Given the description of an element on the screen output the (x, y) to click on. 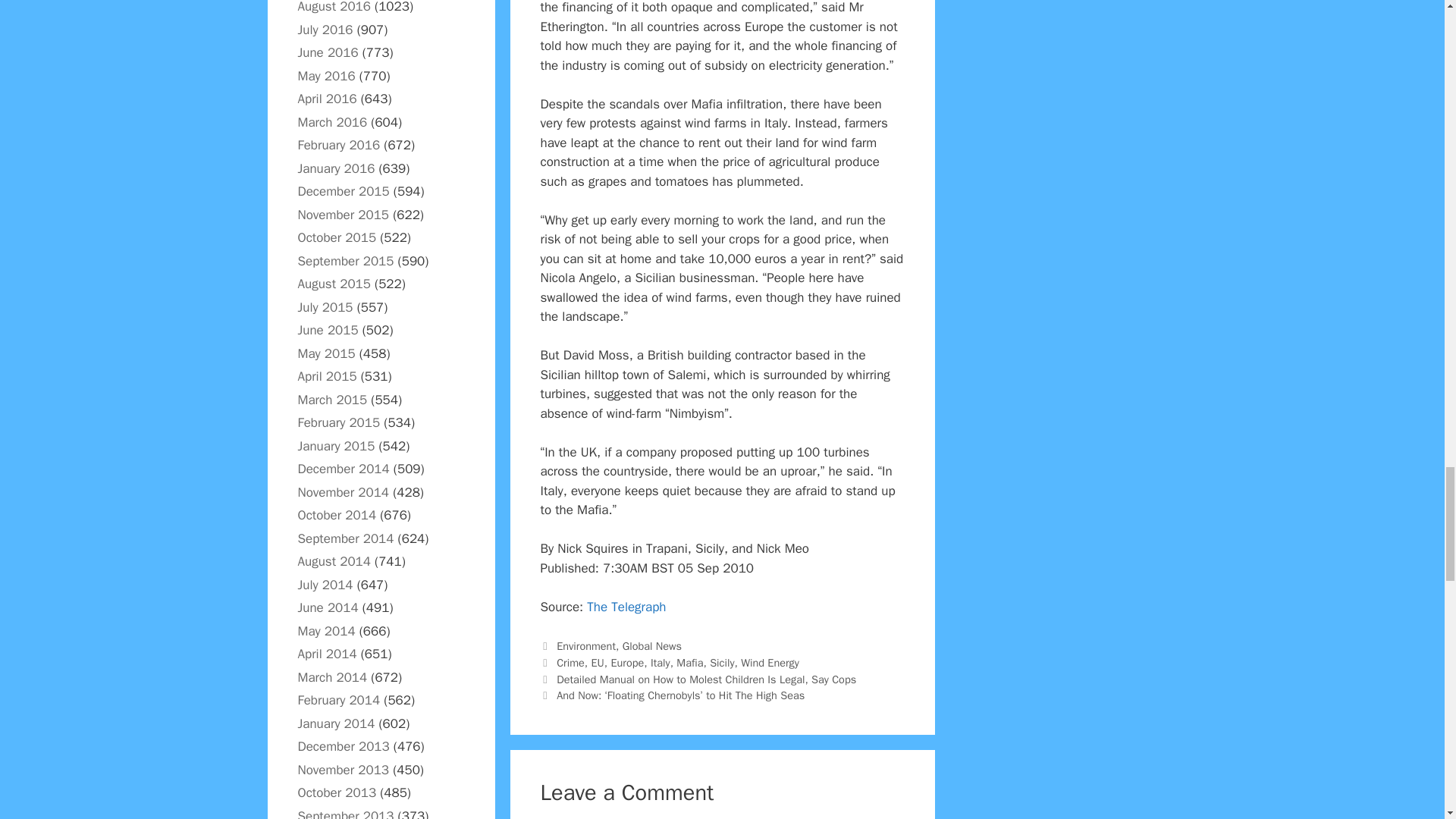
Global News (652, 645)
The Telegraph (625, 606)
Crime (570, 662)
Europe (626, 662)
Wind Energy (770, 662)
Italy (659, 662)
Environment (585, 645)
EU (597, 662)
Mafia (690, 662)
Detailed Manual on How to Molest Children Is Legal, Say Cops (706, 679)
